Given the description of an element on the screen output the (x, y) to click on. 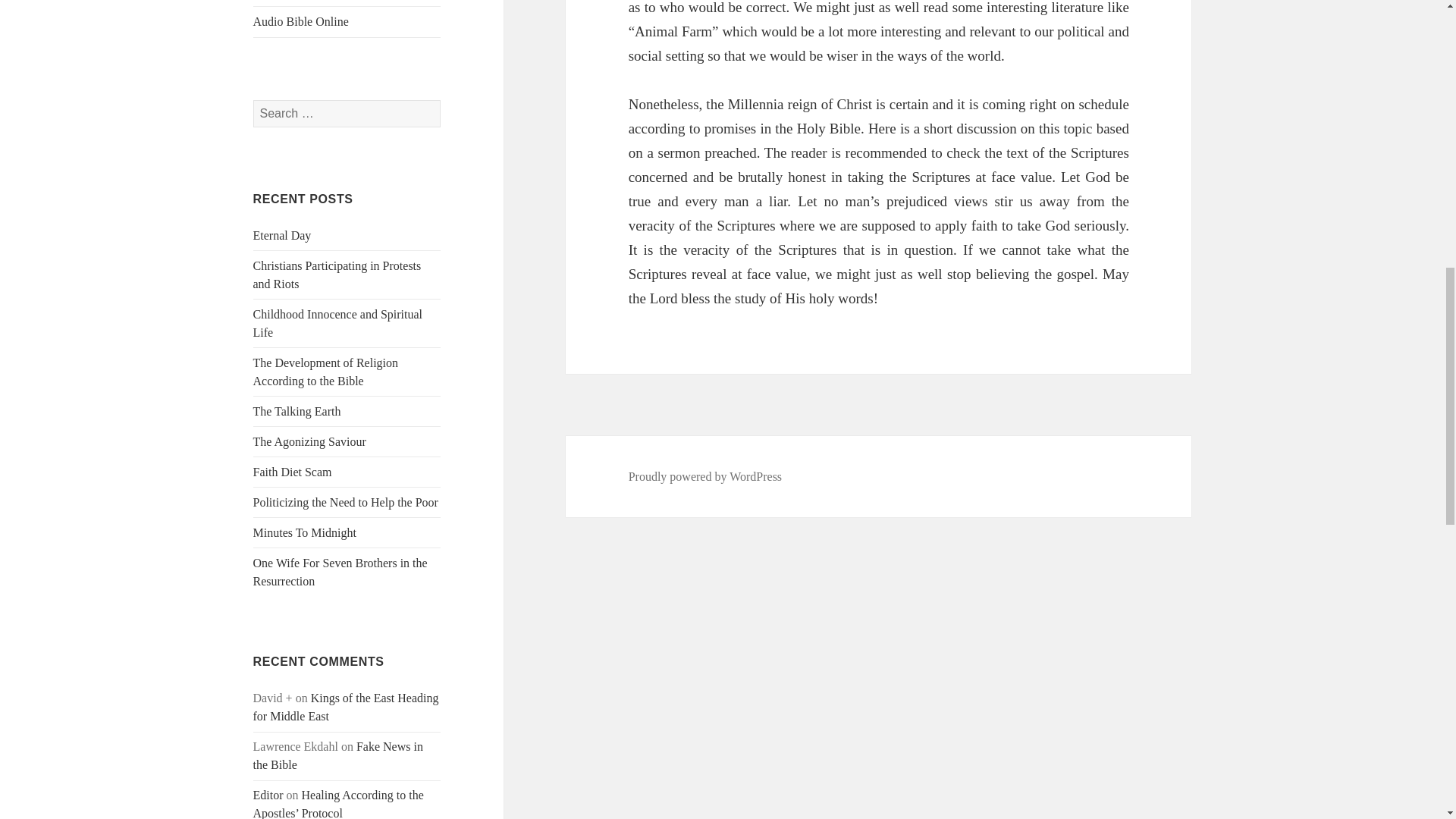
The Agonizing Saviour (309, 440)
Kings of the East Heading for Middle East (346, 706)
Fake News in the Bible (338, 755)
The Talking Earth (296, 410)
Eternal Day (282, 235)
Childhood Innocence and Spiritual Life (338, 323)
Editor (268, 794)
One Wife For Seven Brothers in the Resurrection (340, 572)
Minutes To Midnight (304, 532)
Audio Bible Online (347, 21)
Christians Participating in Protests and Riots (337, 274)
Publications (347, 2)
Politicizing the Need to Help the Poor (345, 502)
Faith Diet Scam (292, 472)
